Given the description of an element on the screen output the (x, y) to click on. 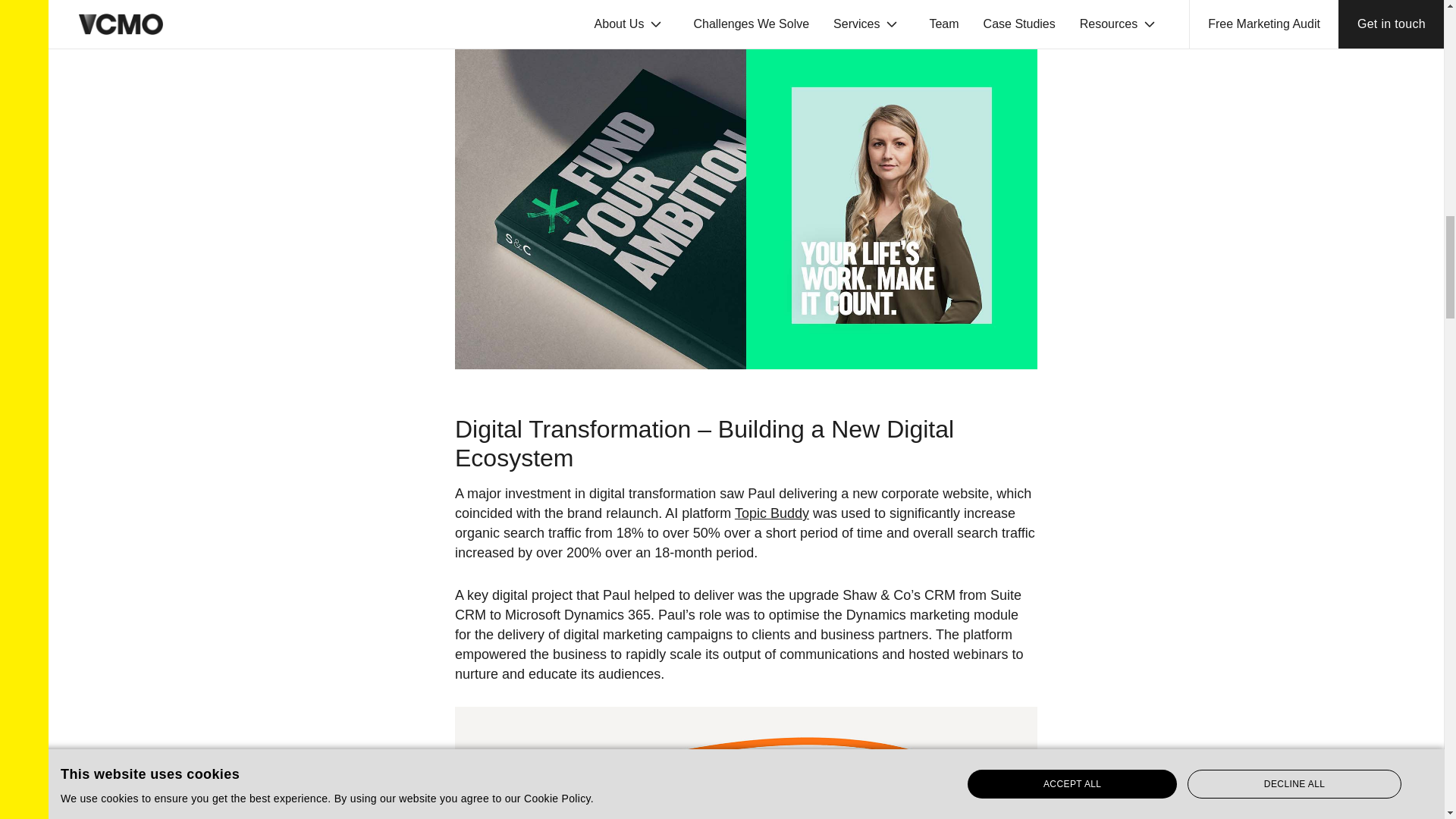
Topic Buddy (772, 513)
